Given the description of an element on the screen output the (x, y) to click on. 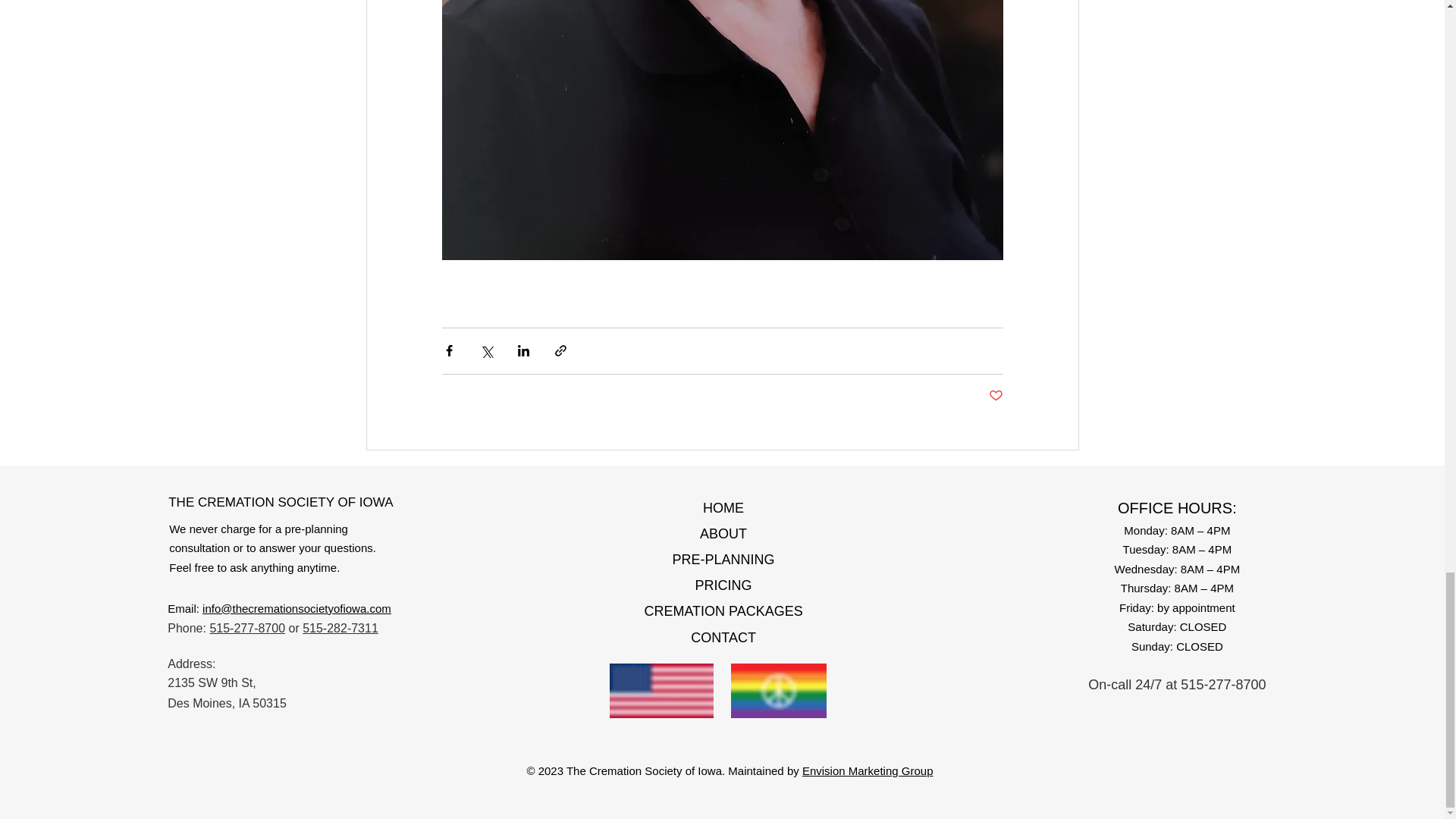
515-282-7311 (340, 627)
CONTACT (722, 637)
CREMATION PACKAGES (722, 611)
PRE-PLANNING (723, 559)
Envision Marketing Group (867, 770)
ABOUT (723, 533)
HOME (723, 507)
515-277-8700 (247, 627)
Post not marked as liked (995, 396)
PRICING (723, 585)
